Given the description of an element on the screen output the (x, y) to click on. 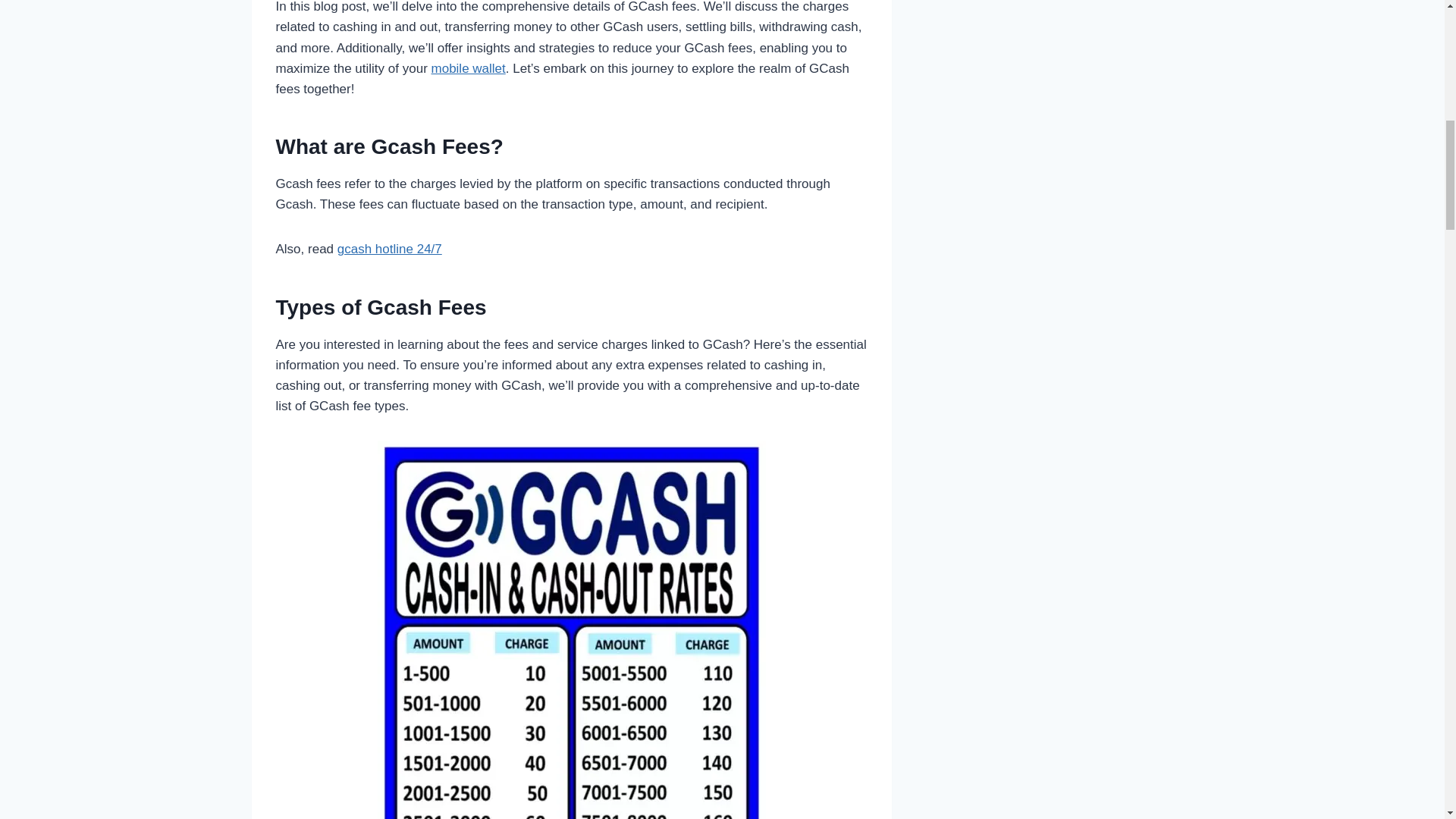
mobile wallet (467, 68)
